Given the description of an element on the screen output the (x, y) to click on. 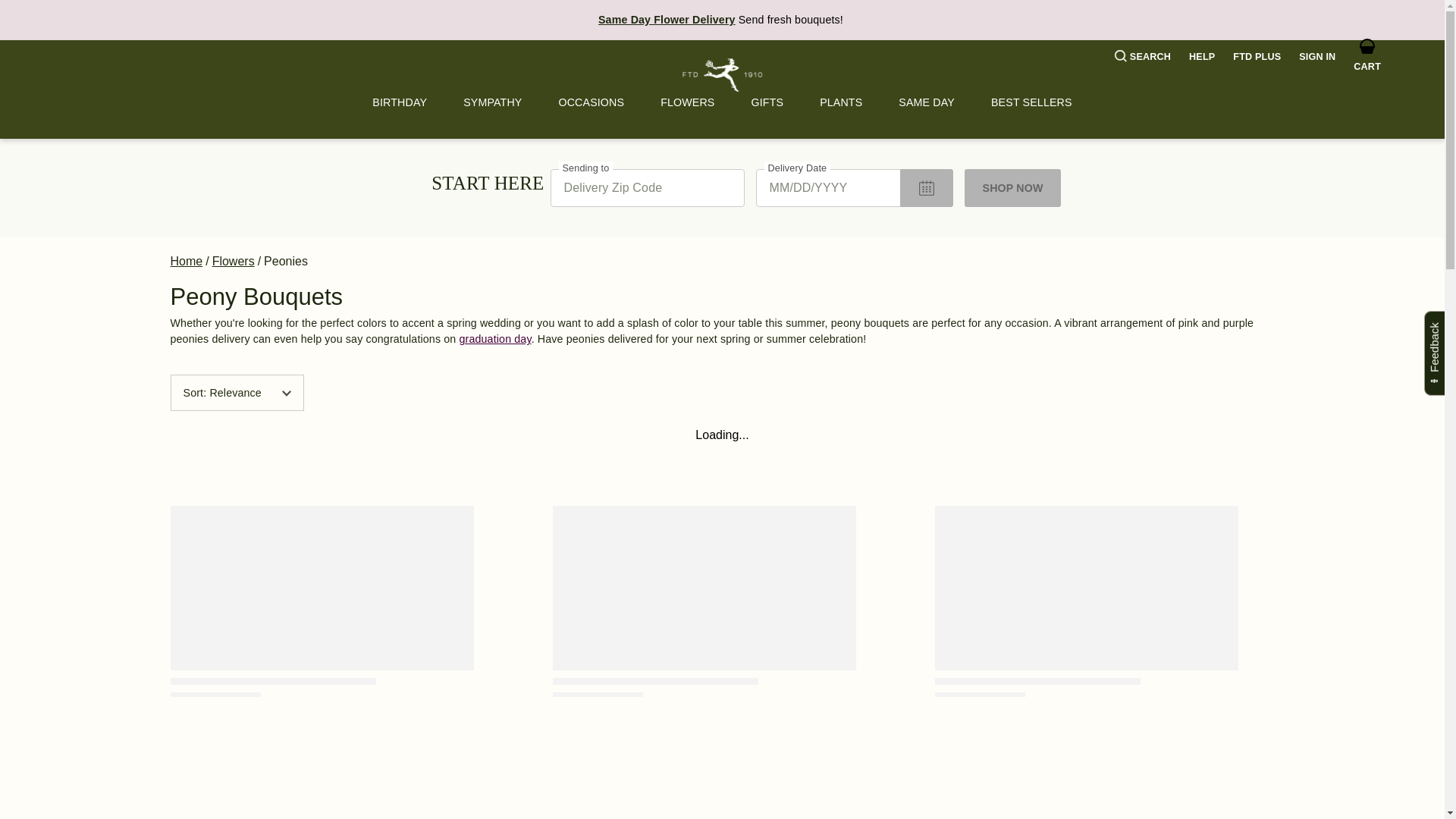
SYMPATHY (492, 102)
Same Day Flower Delivery (666, 19)
BIRTHDAY (399, 102)
HELP (1201, 56)
SEARCH (1142, 56)
SIGN IN (1316, 56)
FTD PLUS (1257, 56)
